Given the description of an element on the screen output the (x, y) to click on. 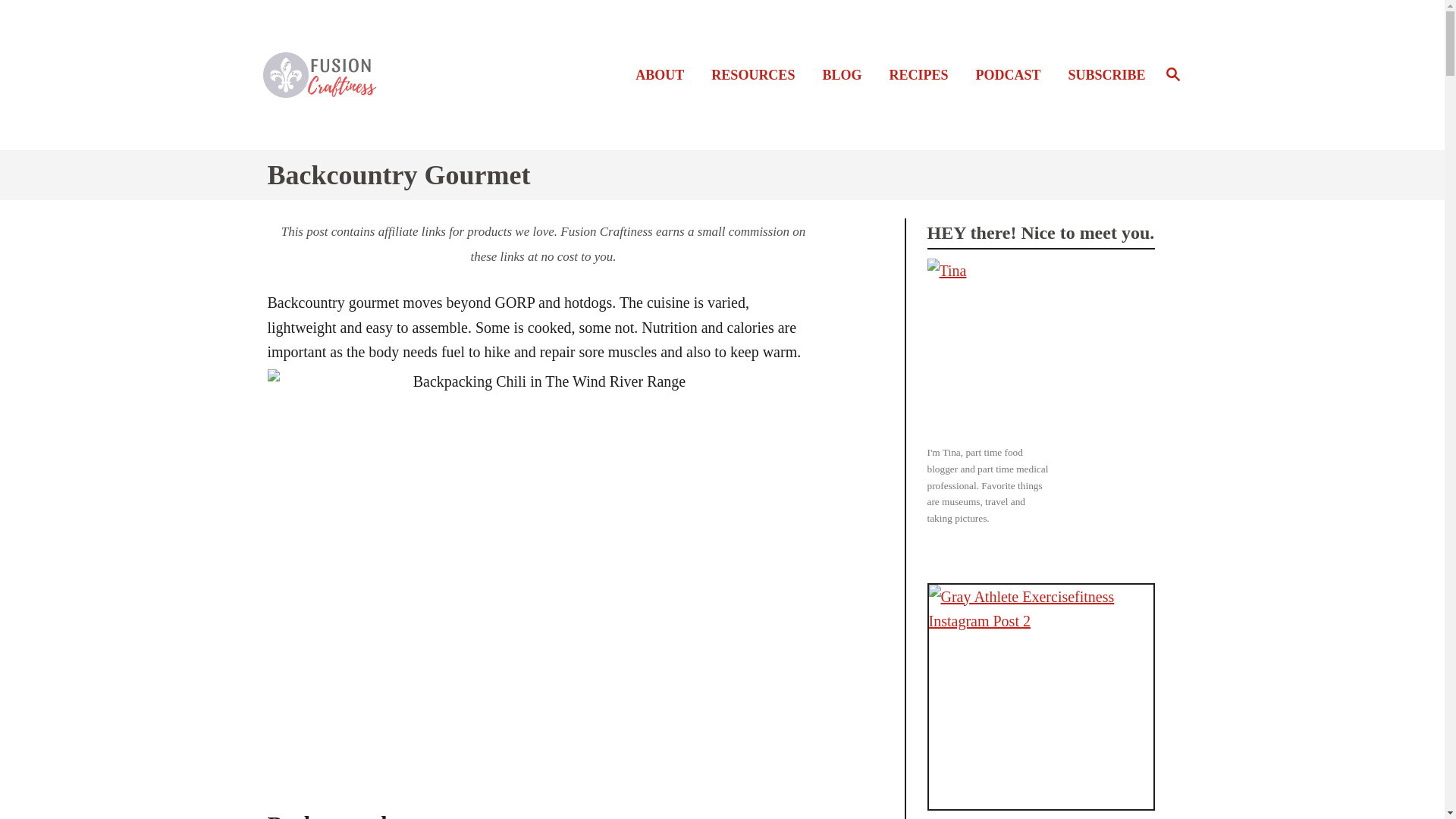
Magnifying Glass (1171, 74)
PODCAST (1012, 75)
fusion craftiness (371, 74)
RECIPES (1171, 75)
RESOURCES (922, 75)
ABOUT (756, 75)
SUBSCRIBE (663, 75)
BLOG (1101, 75)
